Given the description of an element on the screen output the (x, y) to click on. 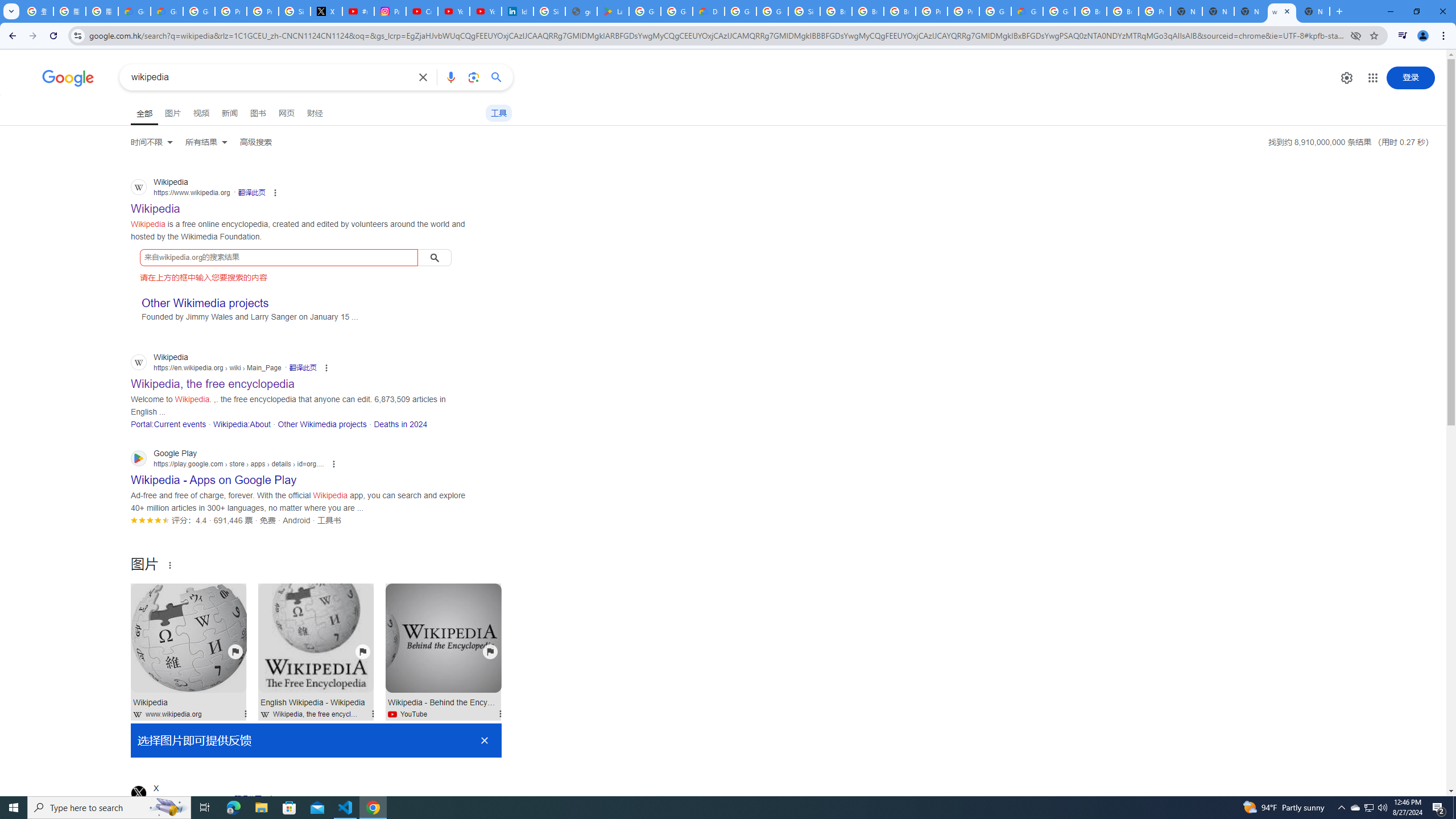
Browse Chrome as a guest - Computer - Google Chrome Help (1091, 11)
Portal:Current events (168, 424)
X (326, 11)
 Wikipedia Wikipedia https://www.wikipedia.org (155, 205)
